Given the description of an element on the screen output the (x, y) to click on. 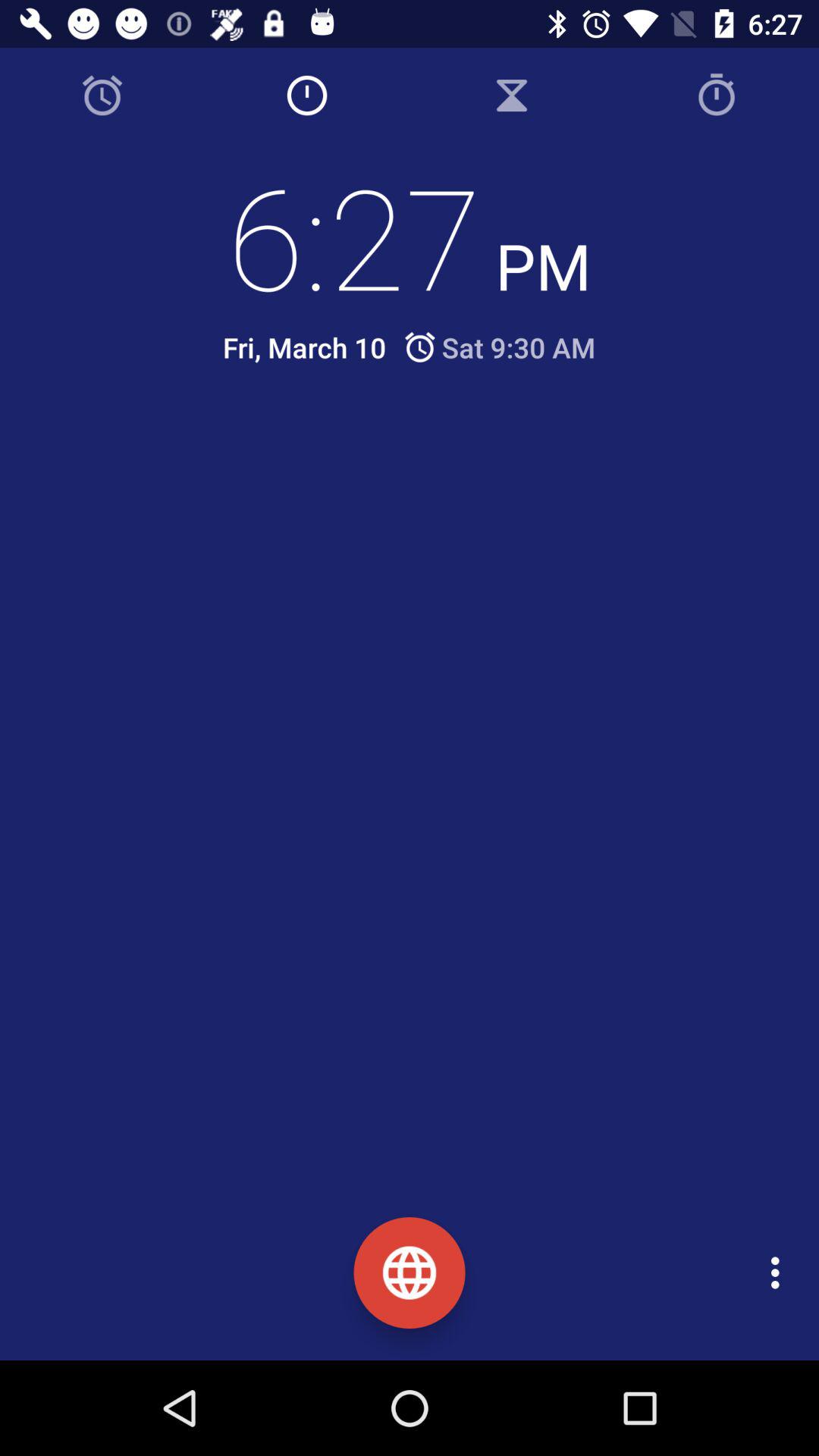
press the item below the fri, march 10 icon (421, 453)
